Given the description of an element on the screen output the (x, y) to click on. 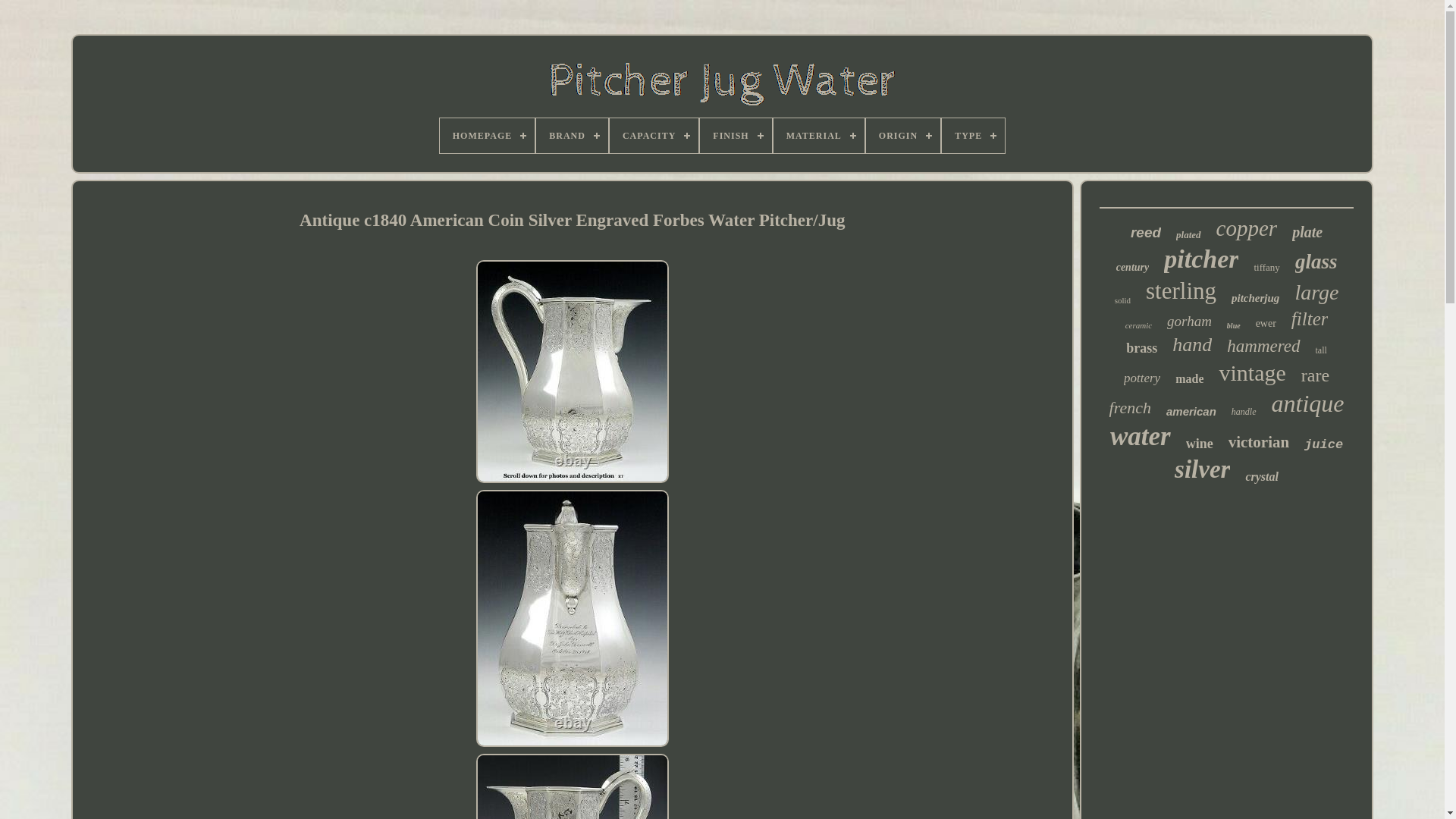
HOMEPAGE (486, 135)
BRAND (571, 135)
CAPACITY (654, 135)
